Given the description of an element on the screen output the (x, y) to click on. 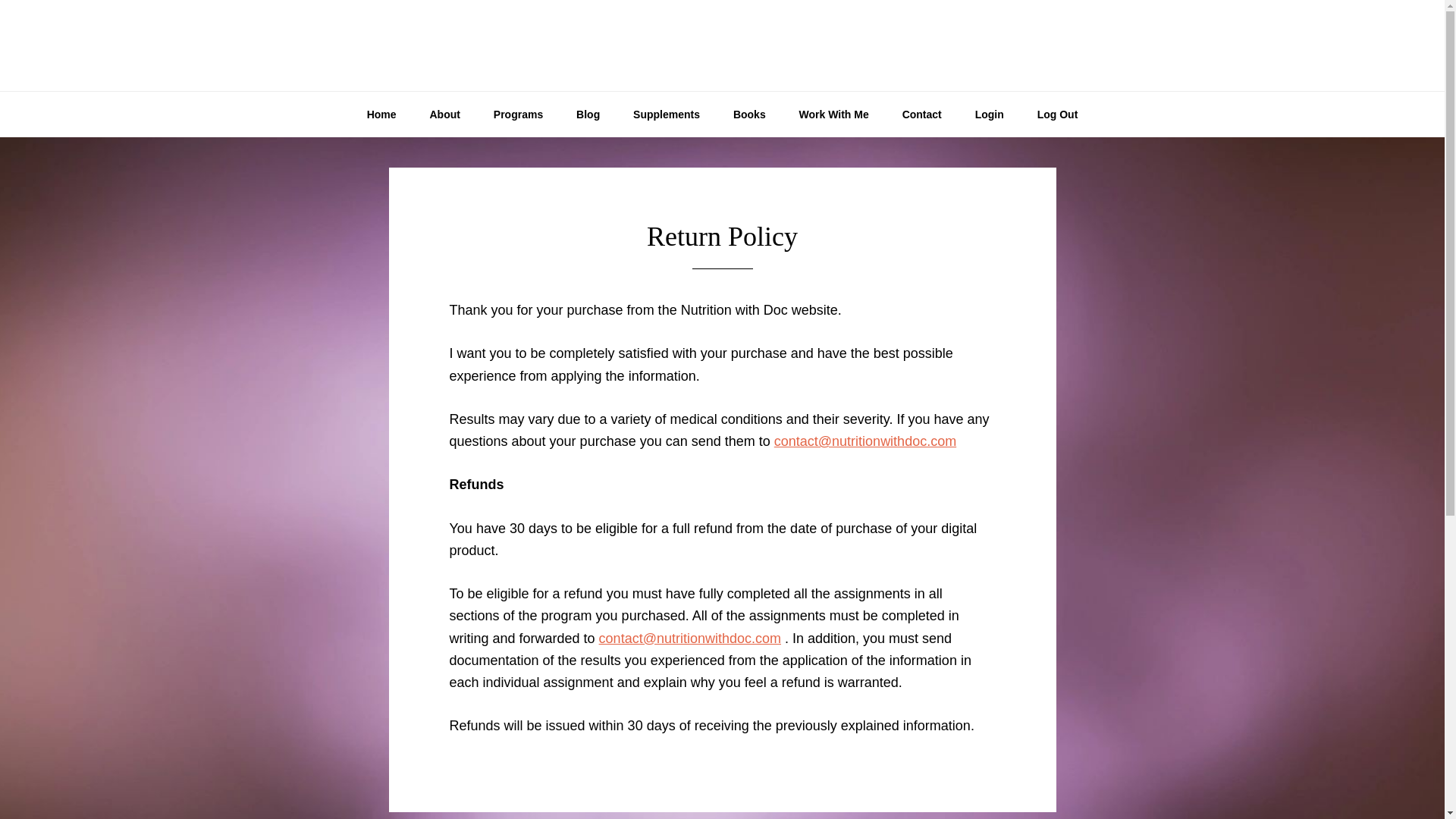
Contact (921, 114)
Work With Me (833, 114)
Books (748, 114)
Login (989, 114)
Nutrition with Doc (721, 45)
Programs (518, 114)
Log Out (1057, 114)
Home (382, 114)
Supplements (665, 114)
About (443, 114)
